Given the description of an element on the screen output the (x, y) to click on. 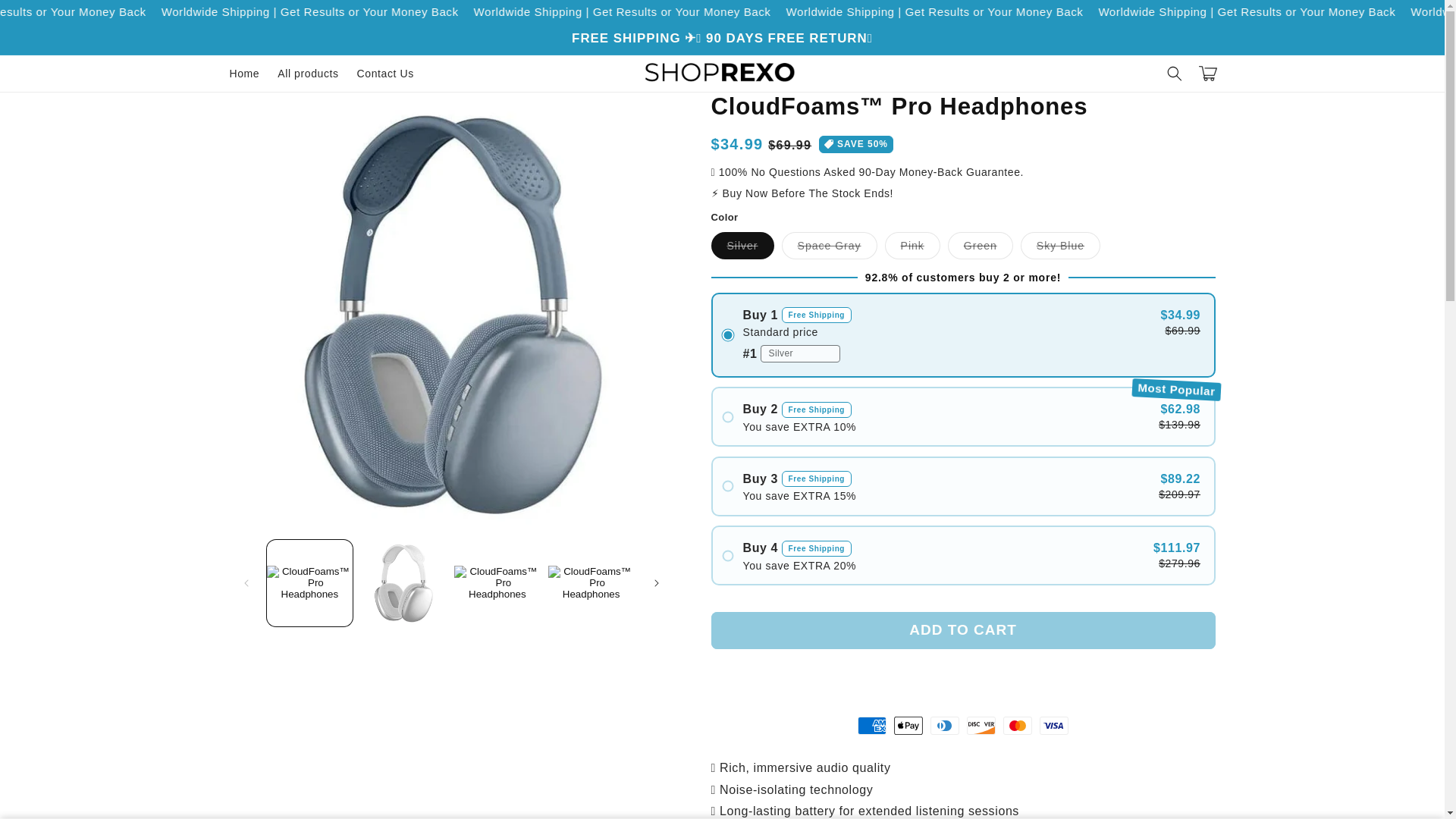
Skip to product information (275, 109)
Contact Us (385, 73)
Cart (1207, 73)
All products (307, 73)
Skip to content (46, 18)
ADD TO CART (963, 630)
Home (243, 73)
